Given the description of an element on the screen output the (x, y) to click on. 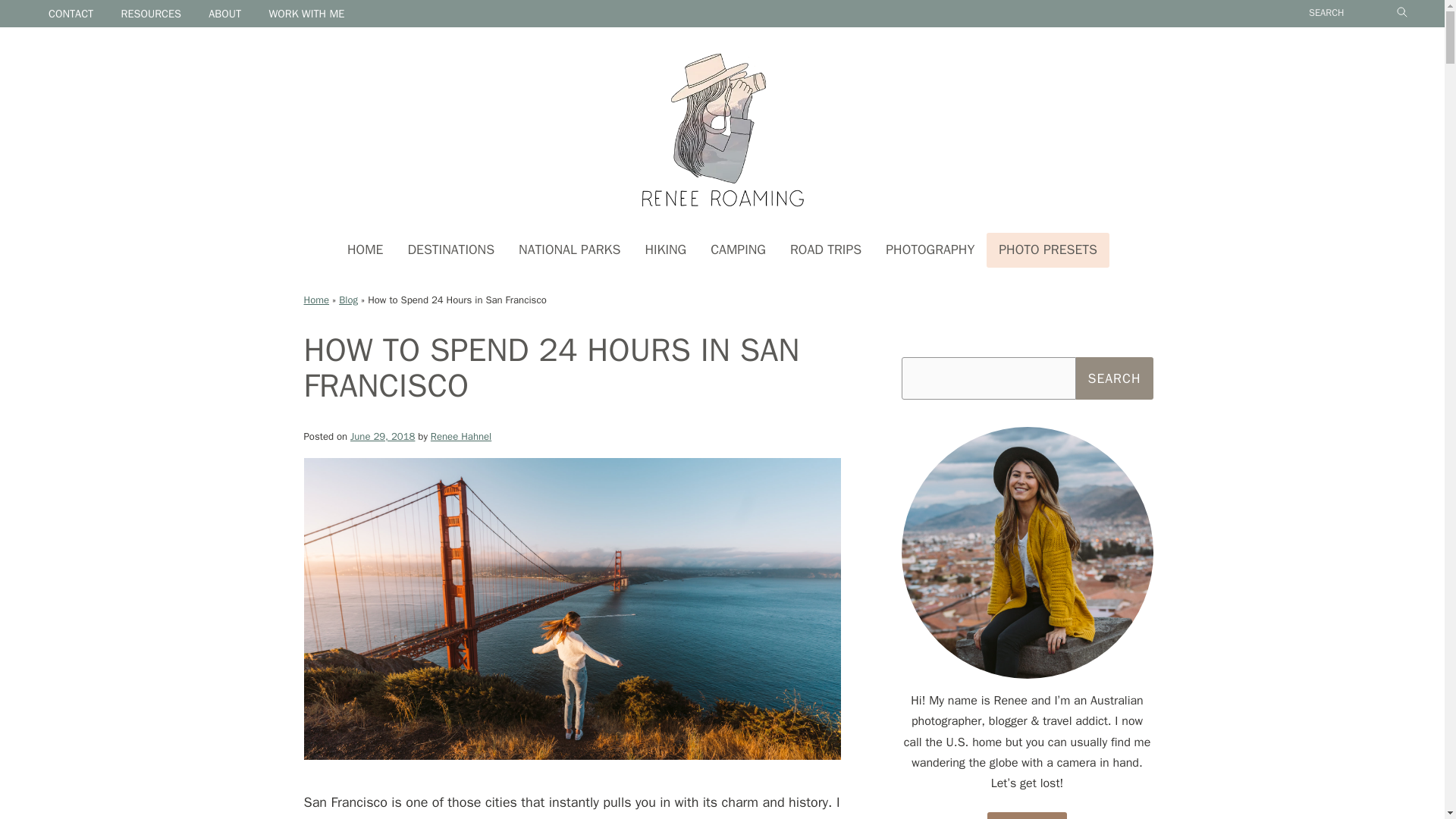
Renee Hahnel (461, 436)
NATIONAL PARKS (568, 249)
PHOTOGRAPHY (930, 249)
June 29, 2018 (382, 436)
Blog (348, 299)
WORK WITH ME (306, 13)
CONTACT (70, 13)
Home (315, 299)
HIKING (664, 249)
ROAD TRIPS (825, 249)
DESTINATIONS (450, 249)
HOME (364, 249)
CAMPING (737, 249)
PHOTO PRESETS (1048, 249)
RESOURCES (151, 13)
